Given the description of an element on the screen output the (x, y) to click on. 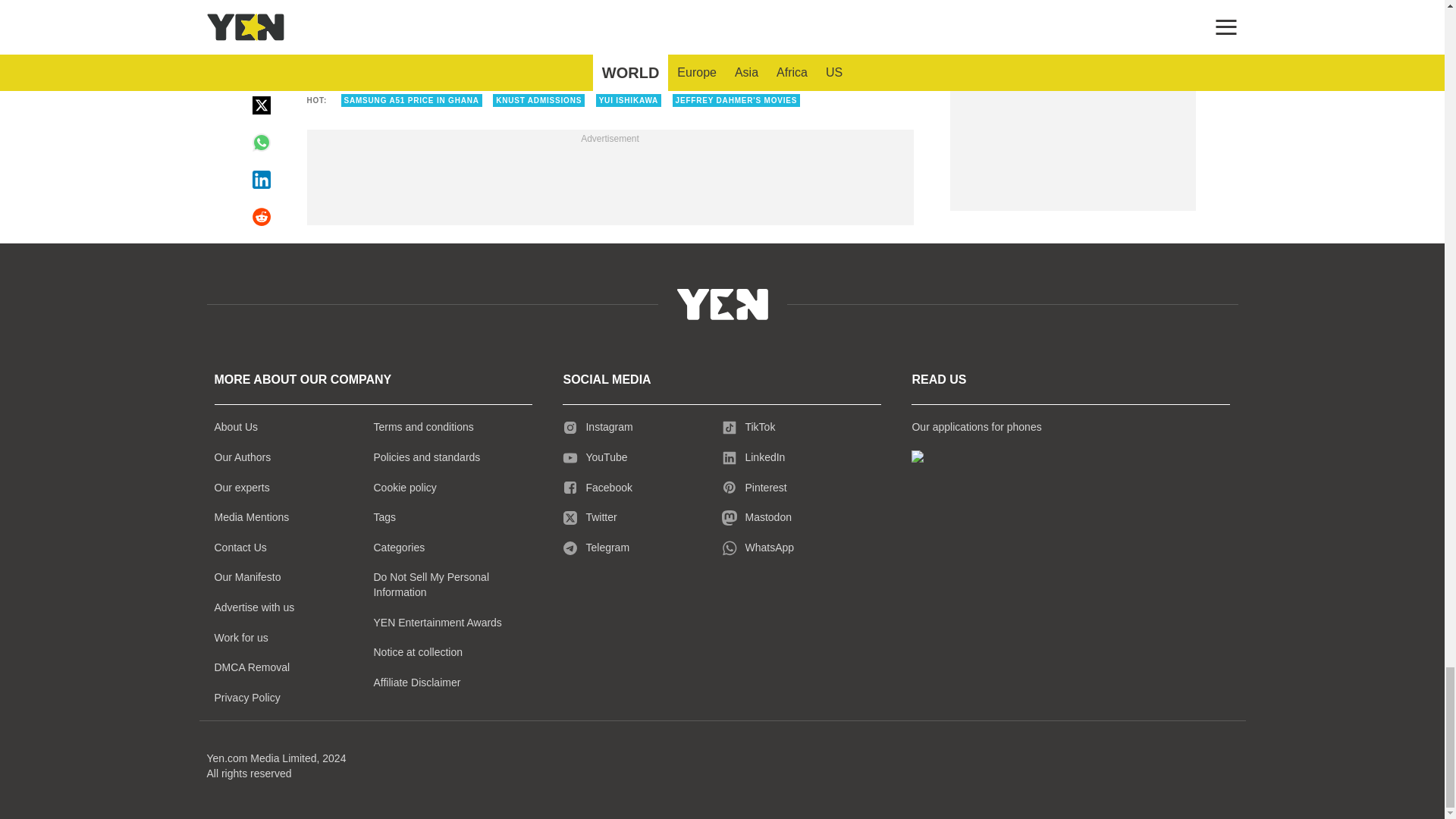
Author page (533, 51)
